Given the description of an element on the screen output the (x, y) to click on. 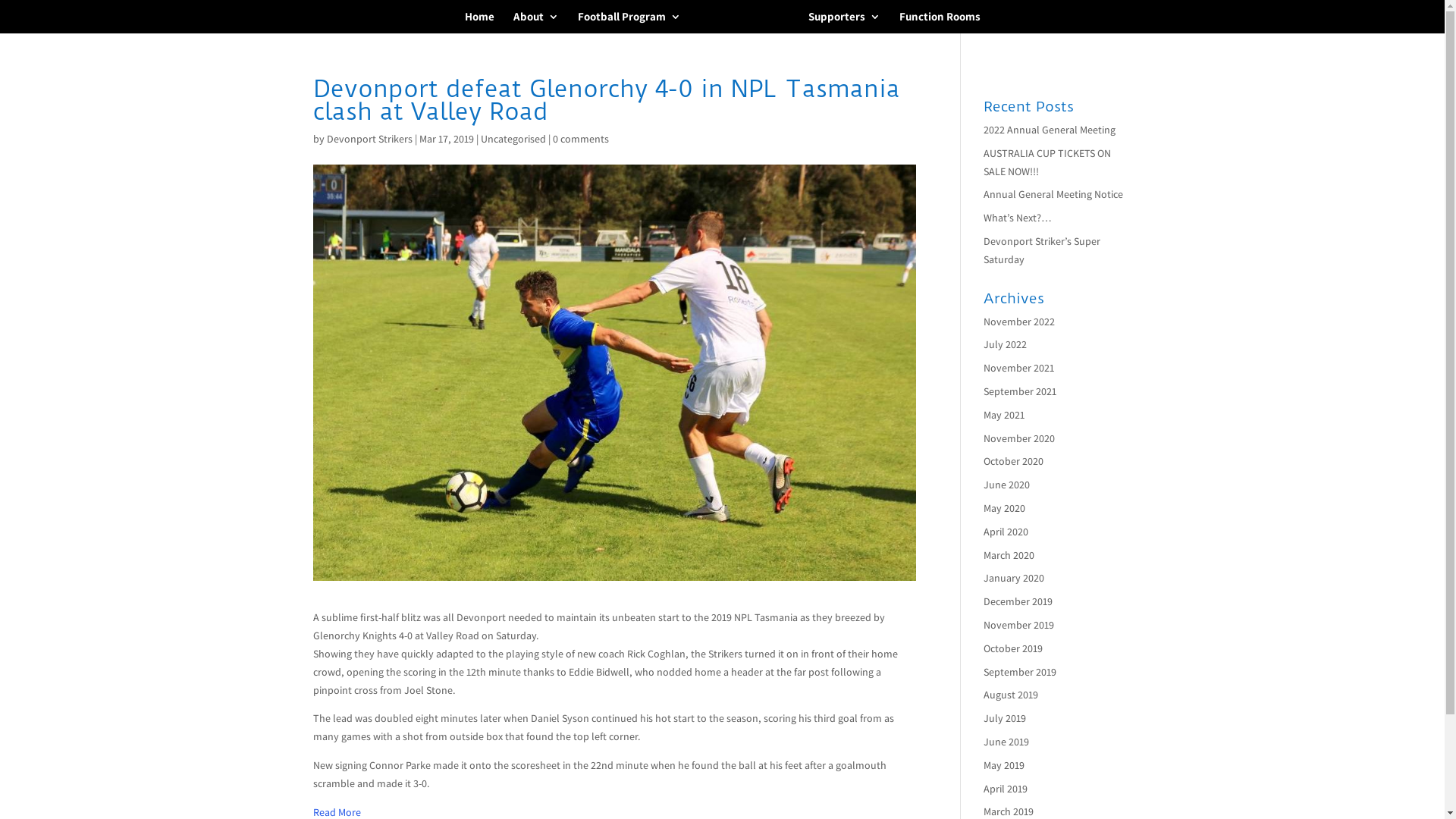
May 2020 Element type: text (1004, 507)
About Element type: text (535, 22)
November 2020 Element type: text (1018, 438)
June 2019 Element type: text (1006, 741)
July 2019 Element type: text (1004, 717)
April 2019 Element type: text (1005, 788)
March 2019 Element type: text (1008, 811)
November 2021 Element type: text (1018, 367)
September 2019 Element type: text (1019, 671)
Supporters Element type: text (844, 22)
May 2019 Element type: text (1003, 764)
Annual General Meeting Notice Element type: text (1053, 193)
October 2020 Element type: text (1013, 460)
September 2021 Element type: text (1019, 391)
May 2021 Element type: text (1003, 414)
0 comments Element type: text (580, 138)
November 2019 Element type: text (1018, 624)
December 2019 Element type: text (1017, 601)
Function Rooms Element type: text (939, 22)
Devonport Strikers Element type: text (368, 138)
August 2019 Element type: text (1010, 694)
March 2020 Element type: text (1008, 554)
Football Program Element type: text (628, 22)
April 2020 Element type: text (1005, 531)
November 2022 Element type: text (1018, 321)
Home Element type: text (478, 22)
June 2020 Element type: text (1006, 484)
Uncategorised Element type: text (513, 138)
October 2019 Element type: text (1012, 648)
AUSTRALIA CUP TICKETS ON SALE NOW!!! Element type: text (1046, 162)
2022 Annual General Meeting Element type: text (1049, 129)
July 2022 Element type: text (1004, 344)
January 2020 Element type: text (1013, 577)
